Given the description of an element on the screen output the (x, y) to click on. 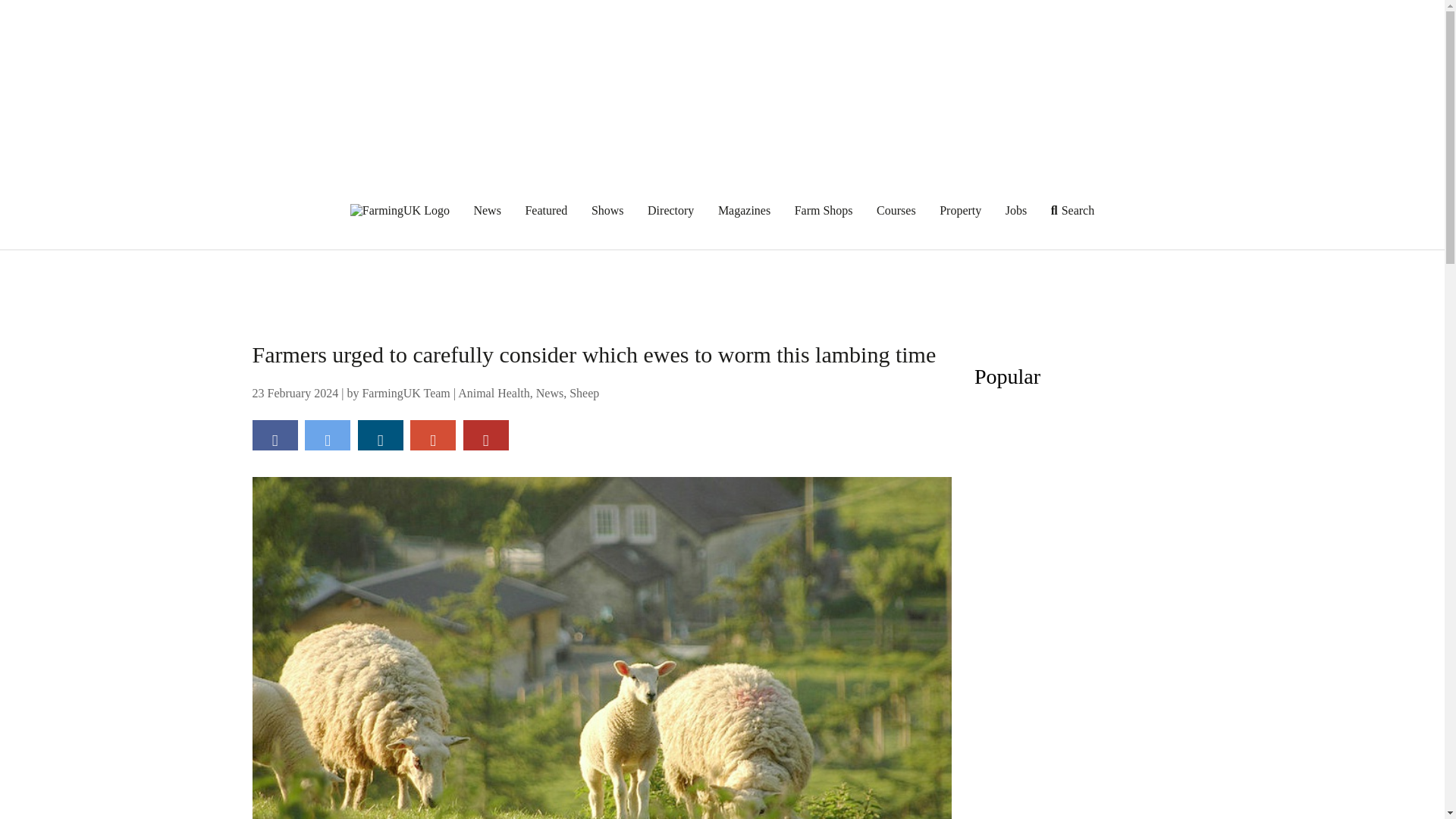
3rd party ad content (722, 284)
Farm Shops (823, 210)
Magazines (743, 210)
Featured (545, 210)
Courses (895, 210)
Share by Email (432, 435)
Share on Facebook (274, 435)
Share on Twitter (327, 435)
Print (485, 435)
Search (1072, 210)
